Given the description of an element on the screen output the (x, y) to click on. 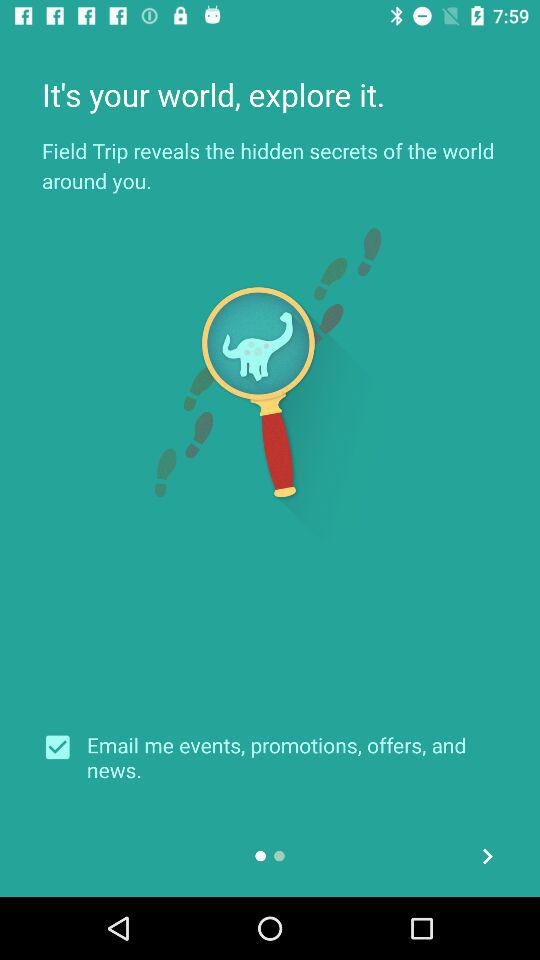
toggle to accept or reject emails from this site (64, 747)
